Given the description of an element on the screen output the (x, y) to click on. 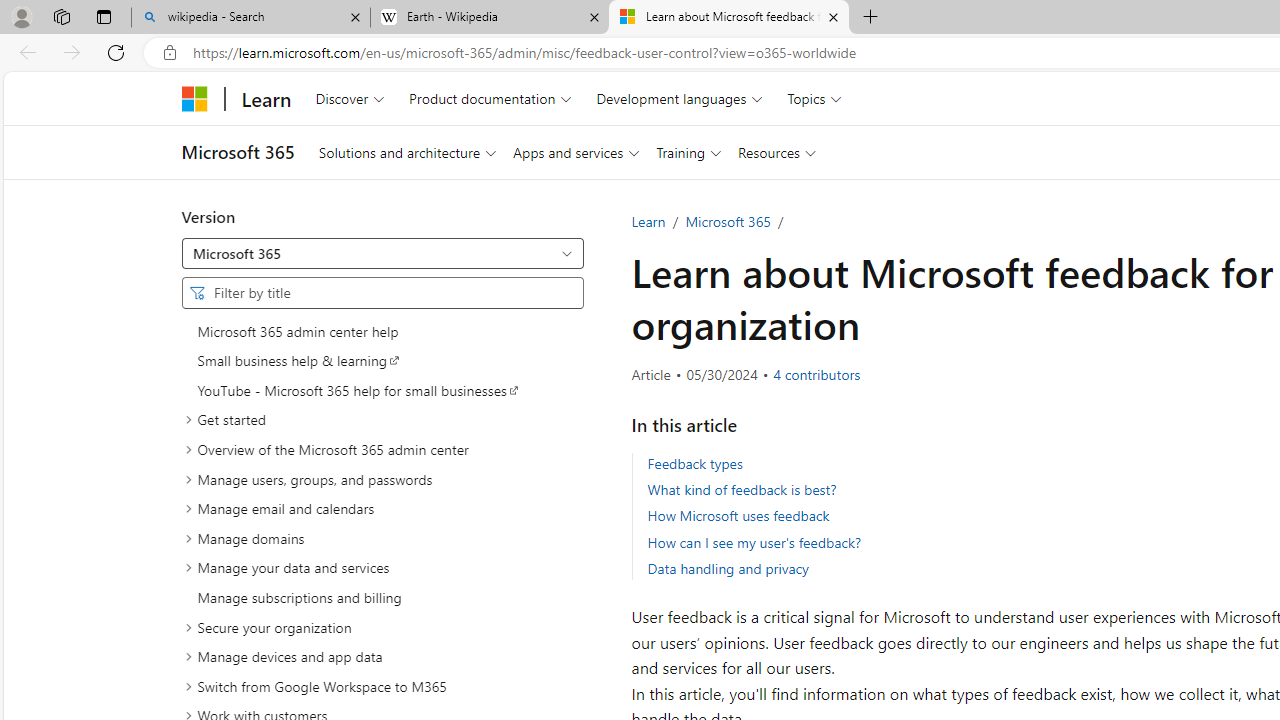
How Microsoft uses feedback (737, 516)
Training (688, 152)
Product documentation (490, 98)
Microsoft (193, 98)
Tab actions menu (104, 16)
Discover (349, 98)
Apps and services (576, 152)
Refresh (115, 52)
Training (688, 152)
Topics (815, 98)
View all contributors (817, 374)
Data handling and privacy (727, 568)
Apps and services (576, 152)
Earth - Wikipedia (490, 17)
Workspaces (61, 16)
